Given the description of an element on the screen output the (x, y) to click on. 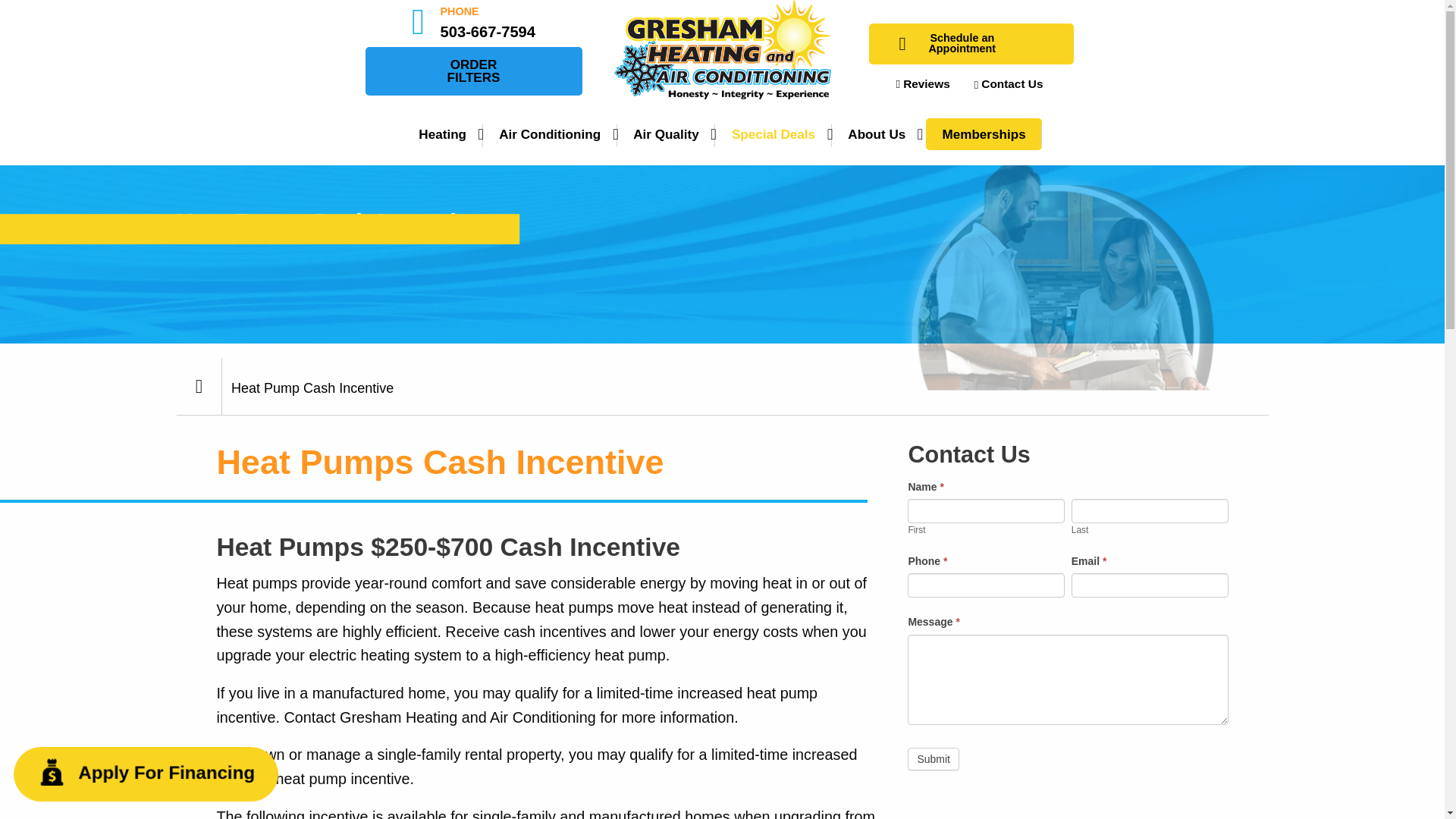
ORDER FILTERS (473, 70)
Contact Us (961, 43)
Reviews (1010, 83)
